Given the description of an element on the screen output the (x, y) to click on. 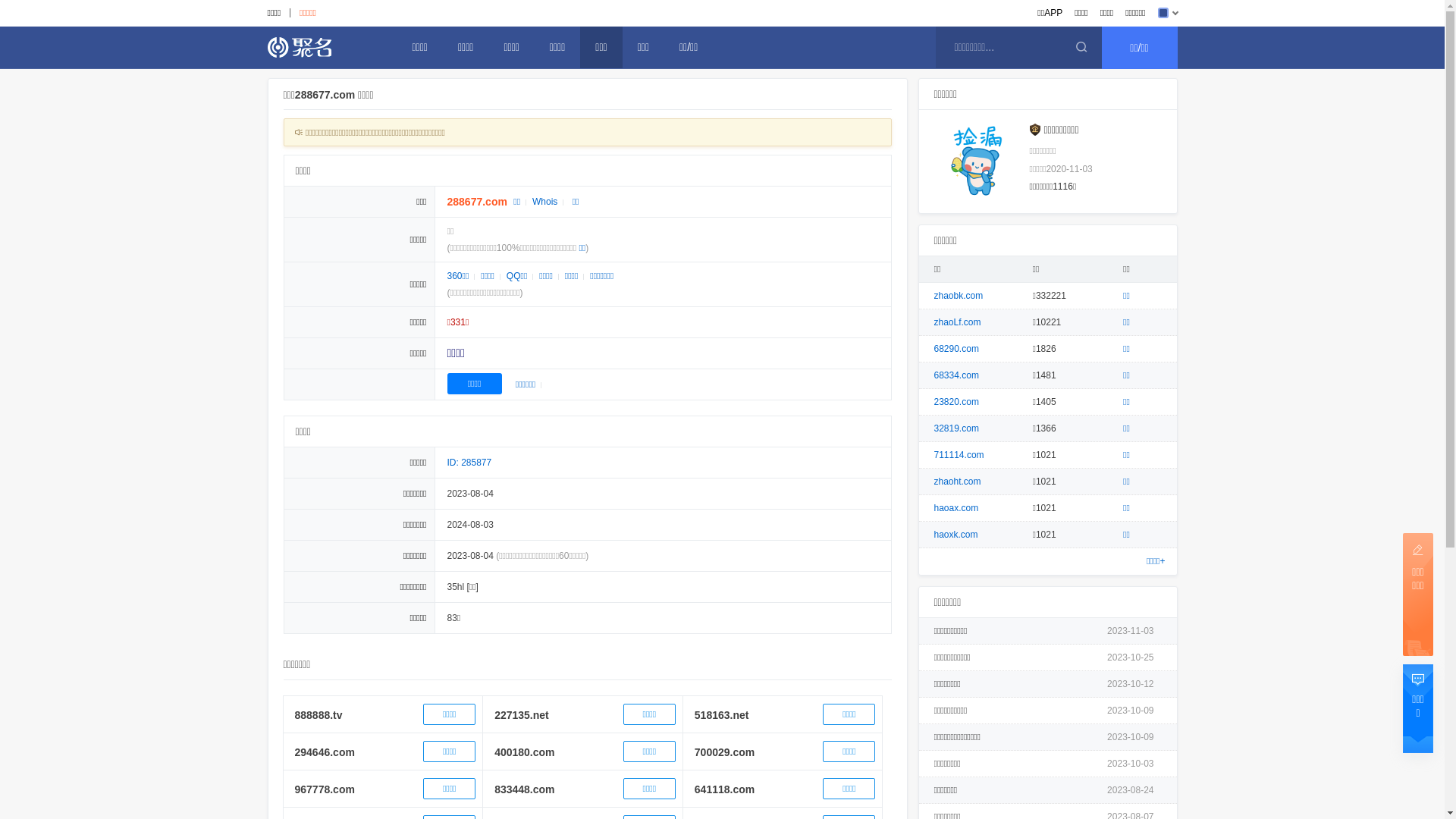
zhaoht.com Element type: text (957, 481)
68290.com Element type: text (956, 348)
ID: 285877 Element type: text (469, 462)
haoxk.com Element type: text (956, 534)
32819.com Element type: text (956, 428)
zhaobk.com Element type: text (958, 295)
zhaoLf.com Element type: text (957, 321)
23820.com Element type: text (956, 401)
68334.com Element type: text (956, 375)
haoax.com Element type: text (956, 507)
711114.com Element type: text (959, 454)
Whois Element type: text (544, 201)
